Given the description of an element on the screen output the (x, y) to click on. 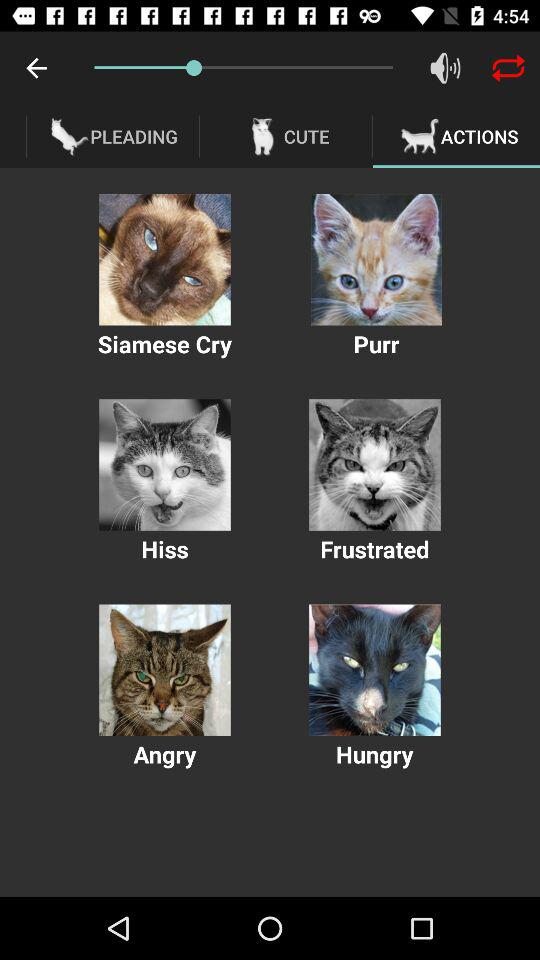
audio volume (445, 67)
